Given the description of an element on the screen output the (x, y) to click on. 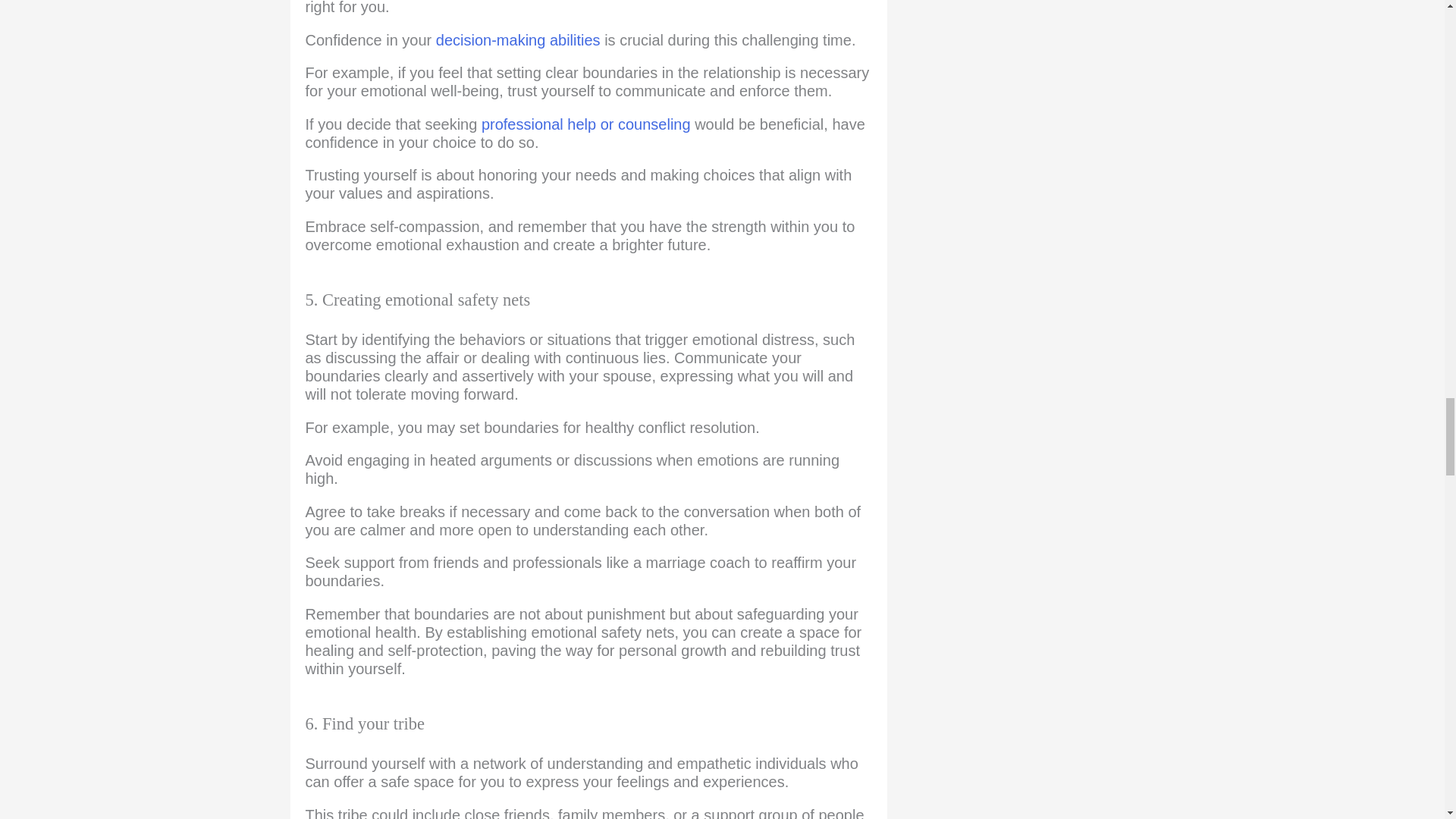
professional help or counseling (585, 124)
decision-making abilities (517, 39)
